Given the description of an element on the screen output the (x, y) to click on. 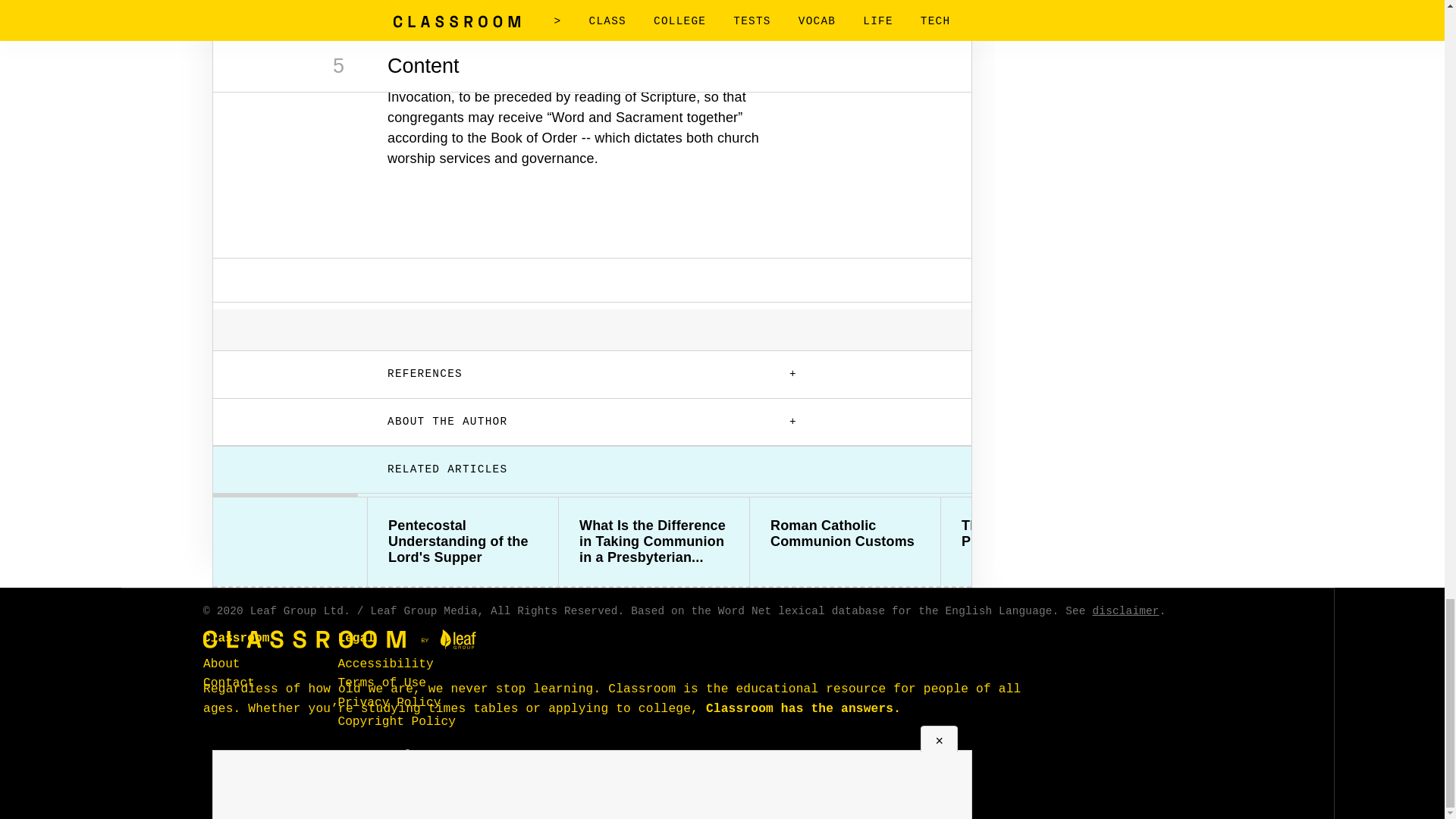
How Often Should Protestants Take Communion? (1227, 541)
Roman Catholic Communion Customs (844, 533)
Contact (228, 683)
About (221, 663)
Accessibility (384, 663)
Pentecostal Understanding of the Lord's Supper (462, 541)
The Episcopalian Process for a Baptism (1035, 533)
